Given the description of an element on the screen output the (x, y) to click on. 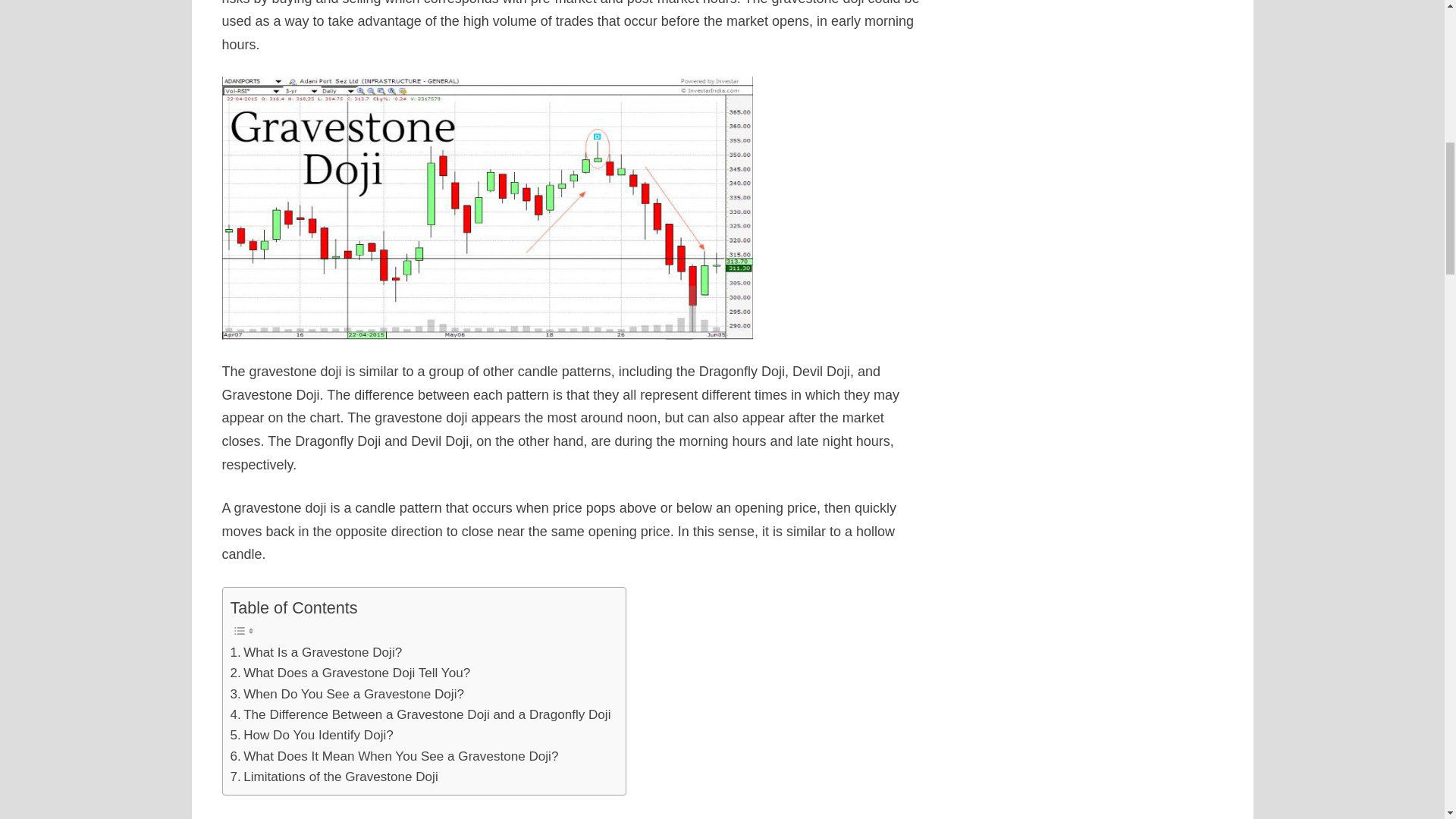
When Do You See a Gravestone Doji? (347, 693)
What Is a Gravestone Doji? (316, 652)
What Does a Gravestone Doji Tell You? (350, 672)
What Does a Gravestone Doji Tell You? (350, 672)
What Does It Mean When You See a Gravestone Doji? (394, 756)
How Do You Identify Doji? (311, 734)
Limitations of the Gravestone Doji (334, 776)
What Is a Gravestone Doji? (316, 652)
